Given the description of an element on the screen output the (x, y) to click on. 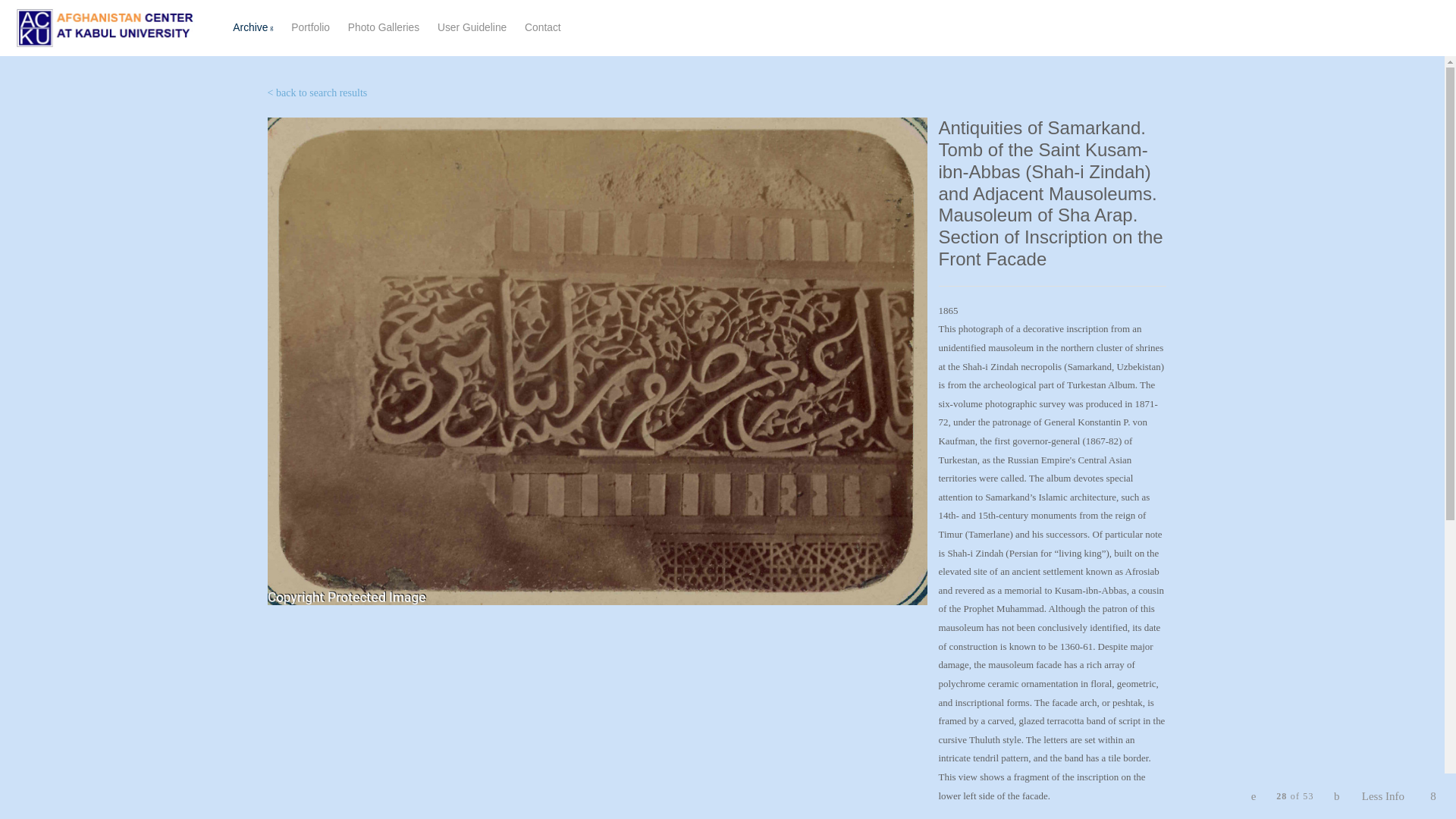
User Guideline (472, 27)
Contact (542, 27)
Afghanistan Centre at Kabul University (105, 27)
Afghanistan Centre at Kabul University (105, 27)
Photo Galleries (403, 28)
Portfolio (383, 27)
back to search results (310, 27)
